Given the description of an element on the screen output the (x, y) to click on. 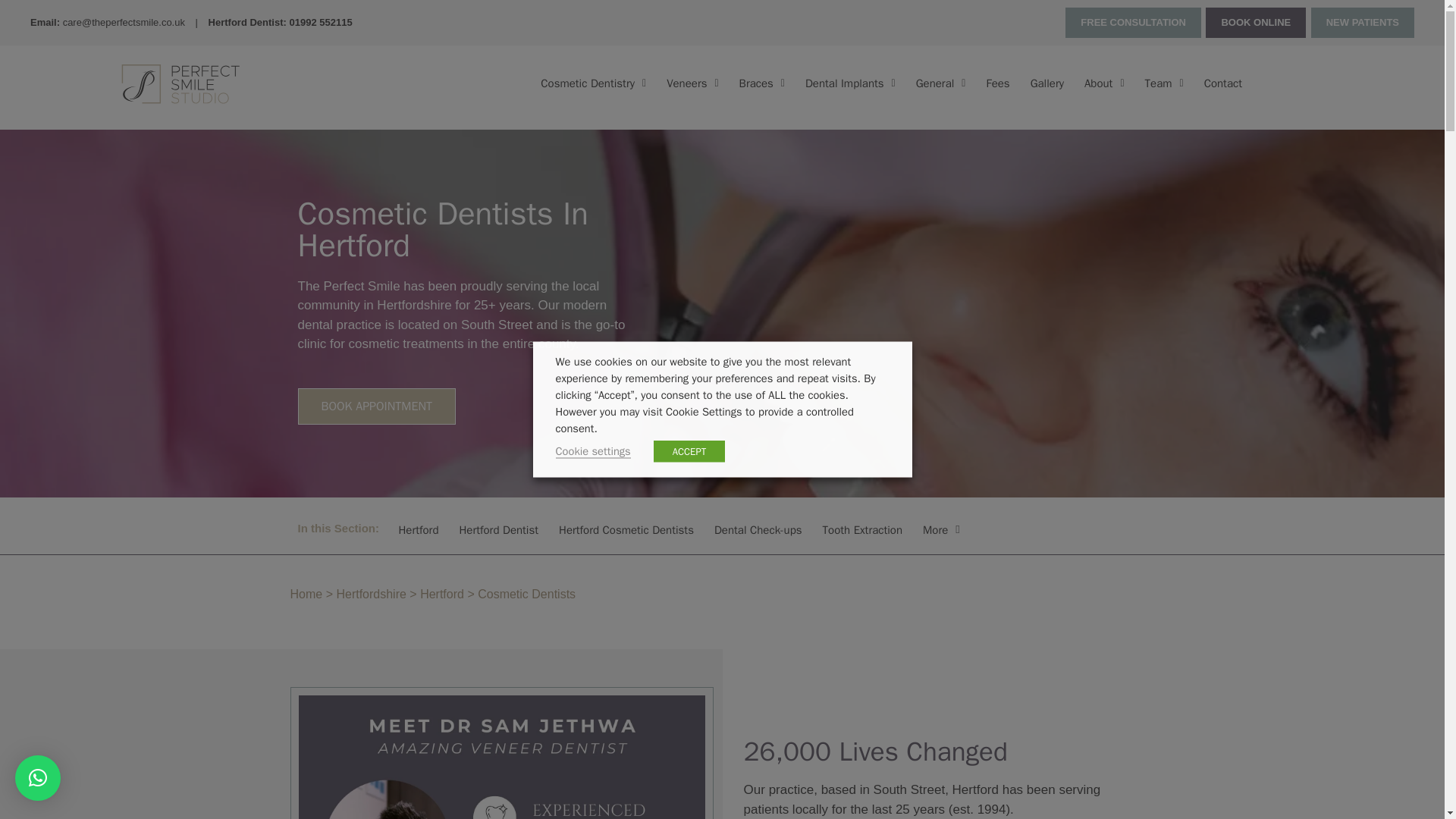
Veneers (692, 83)
01992 552115 (320, 21)
BOOK ONLINE (1255, 22)
Cosmetic Dentistry (592, 83)
Hertford Dentist: (248, 21)
Dental Implants (849, 83)
NEW PATIENTS (1362, 22)
General (941, 83)
FREE CONSULTATION (1133, 22)
Fees (997, 83)
Braces (762, 83)
